Given the description of an element on the screen output the (x, y) to click on. 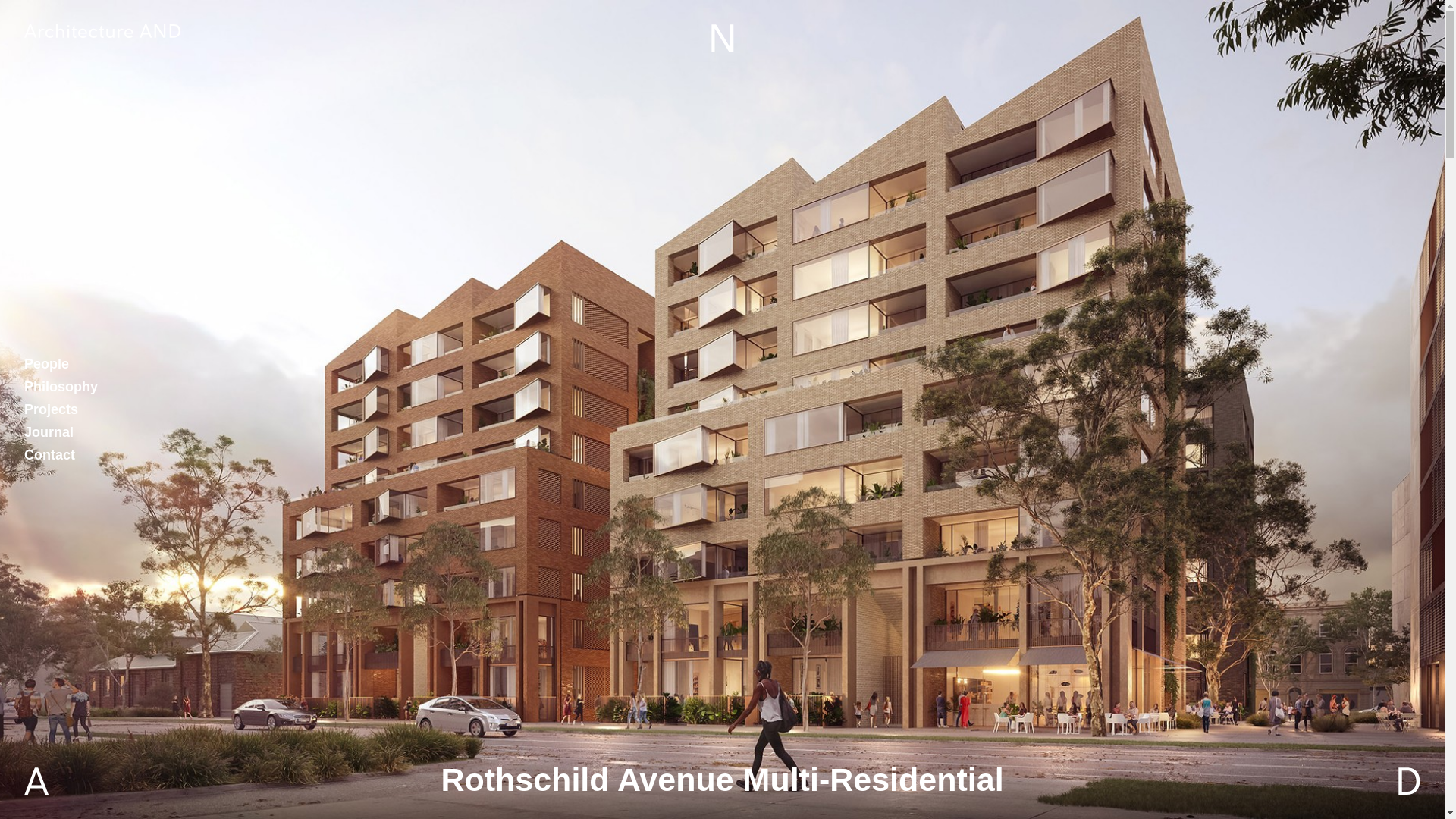
Philosophy (60, 386)
Projects (51, 409)
Journal (49, 431)
People (46, 363)
Contact (49, 454)
